Given the description of an element on the screen output the (x, y) to click on. 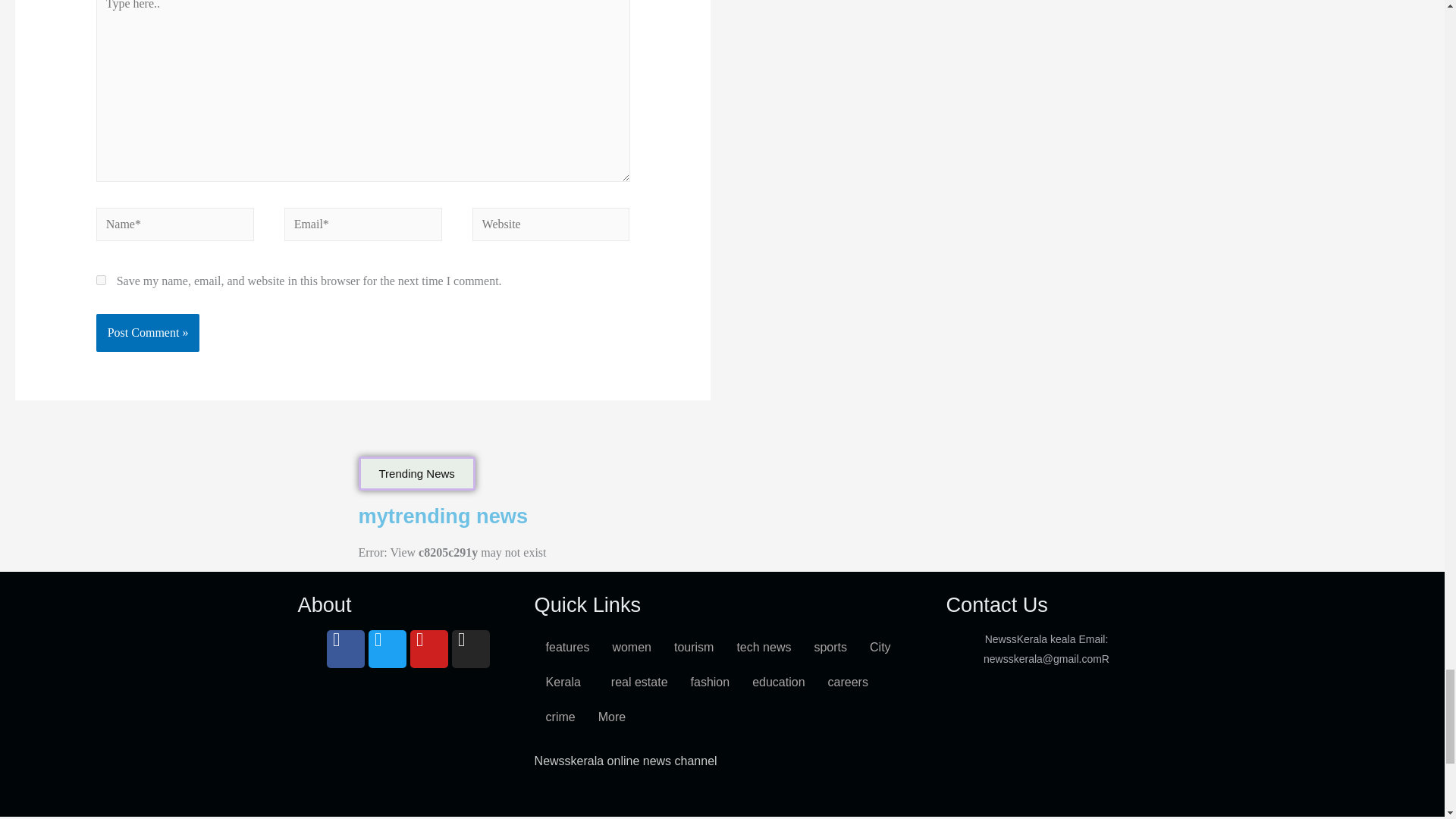
yes (101, 280)
